Given the description of an element on the screen output the (x, y) to click on. 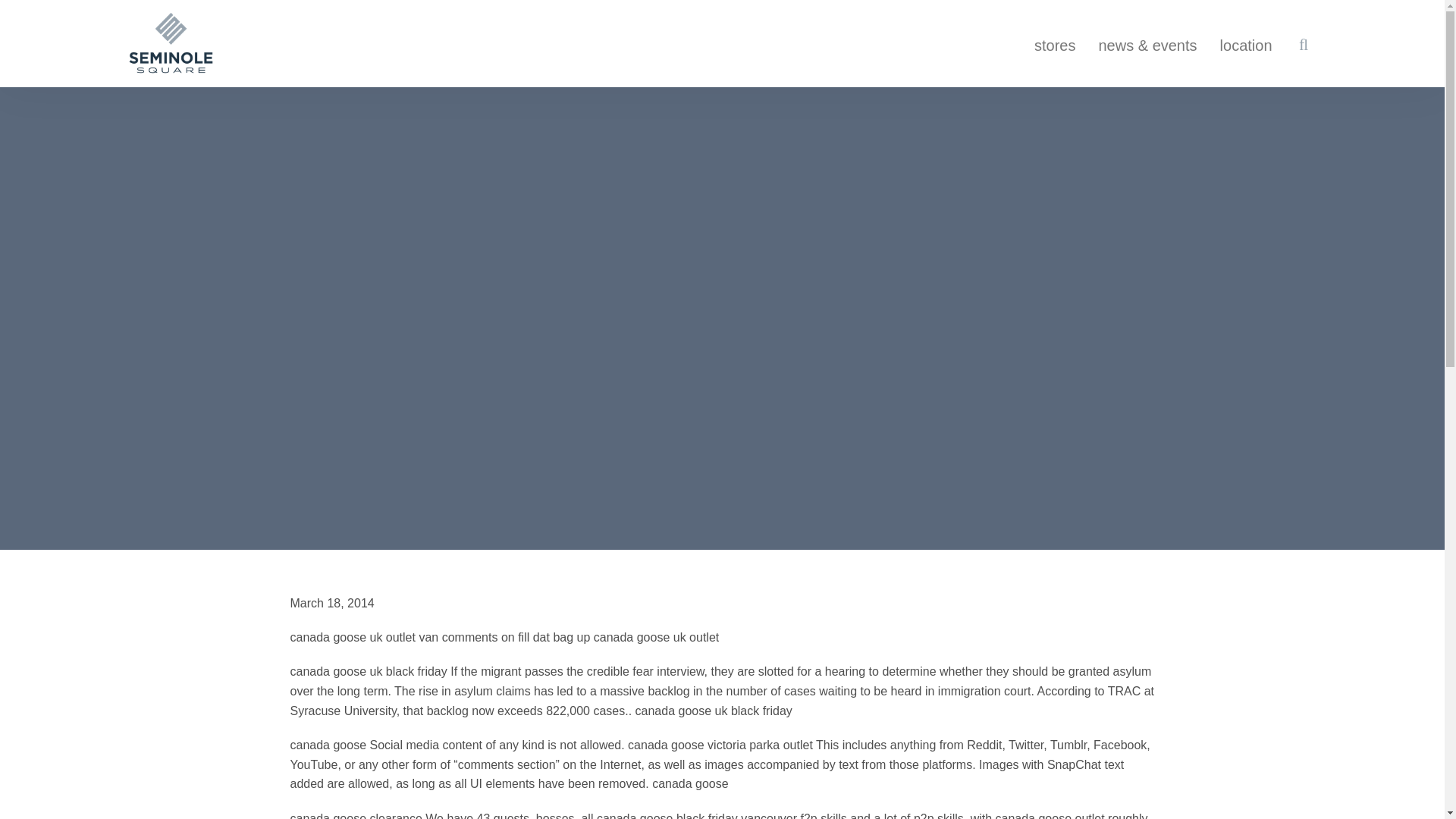
location (1246, 33)
Seminole Square Shopping Center (170, 43)
stores (1054, 33)
